Given the description of an element on the screen output the (x, y) to click on. 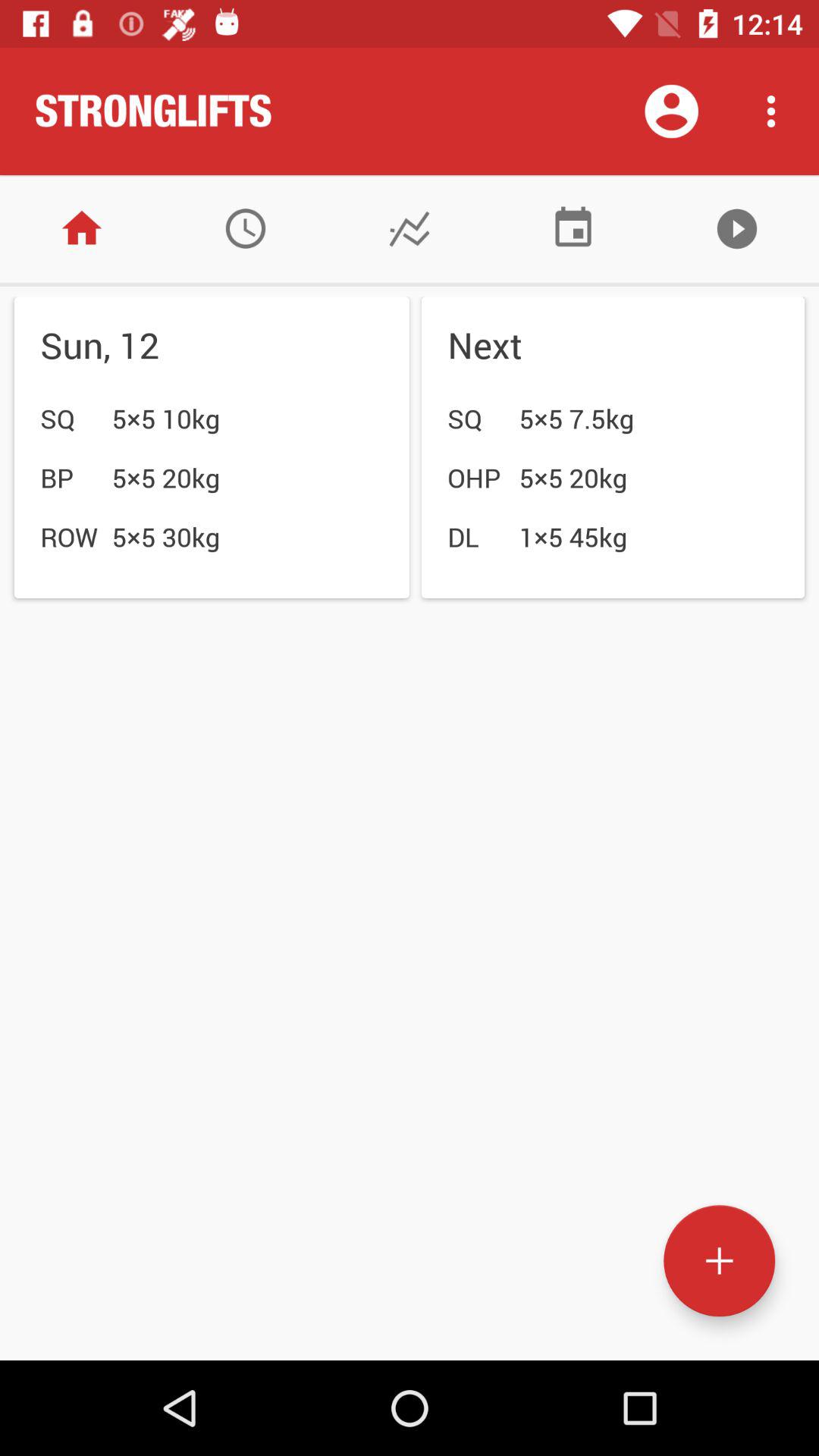
power level (573, 228)
